Given the description of an element on the screen output the (x, y) to click on. 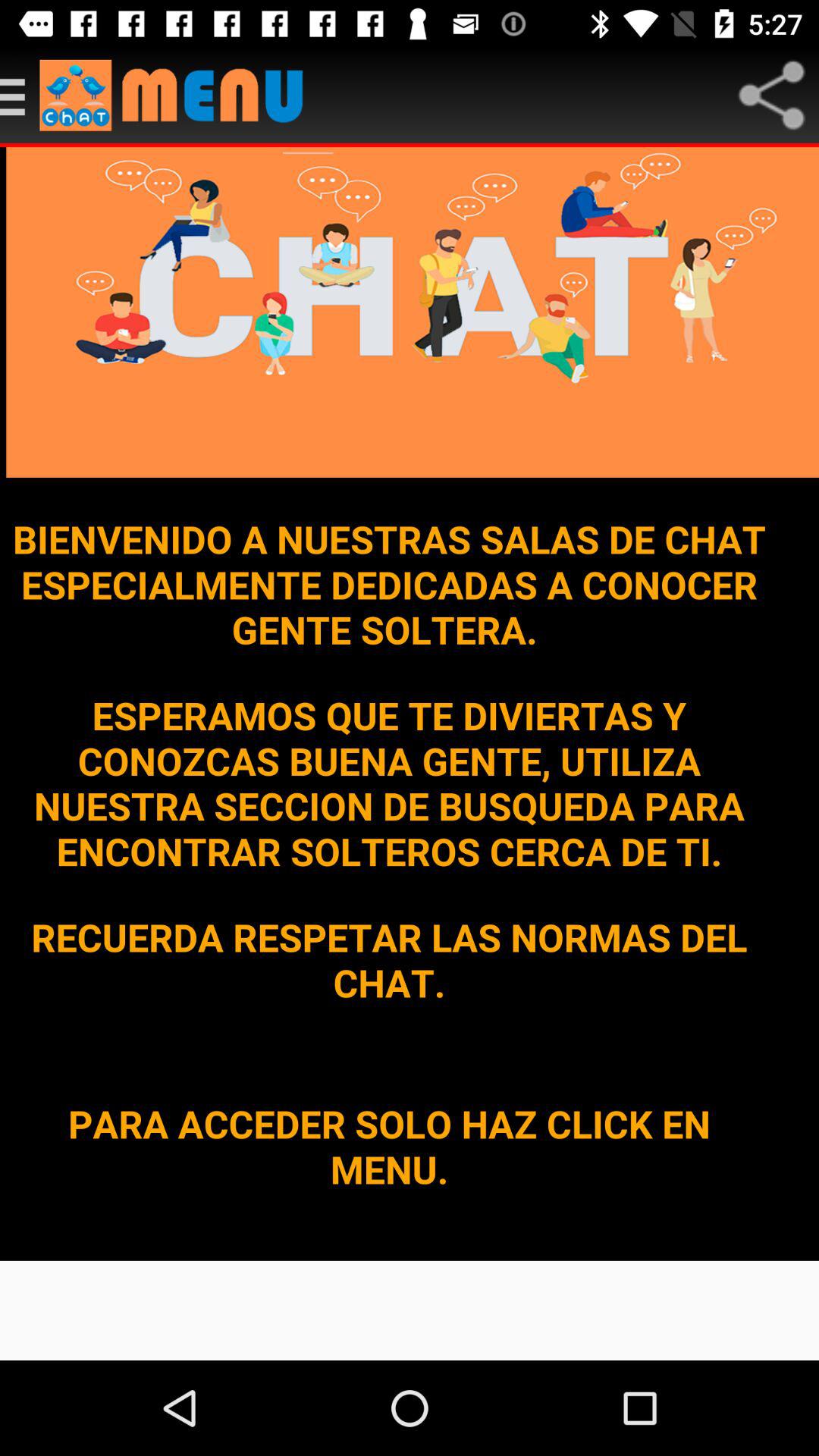
view menu (19, 95)
